Given the description of an element on the screen output the (x, y) to click on. 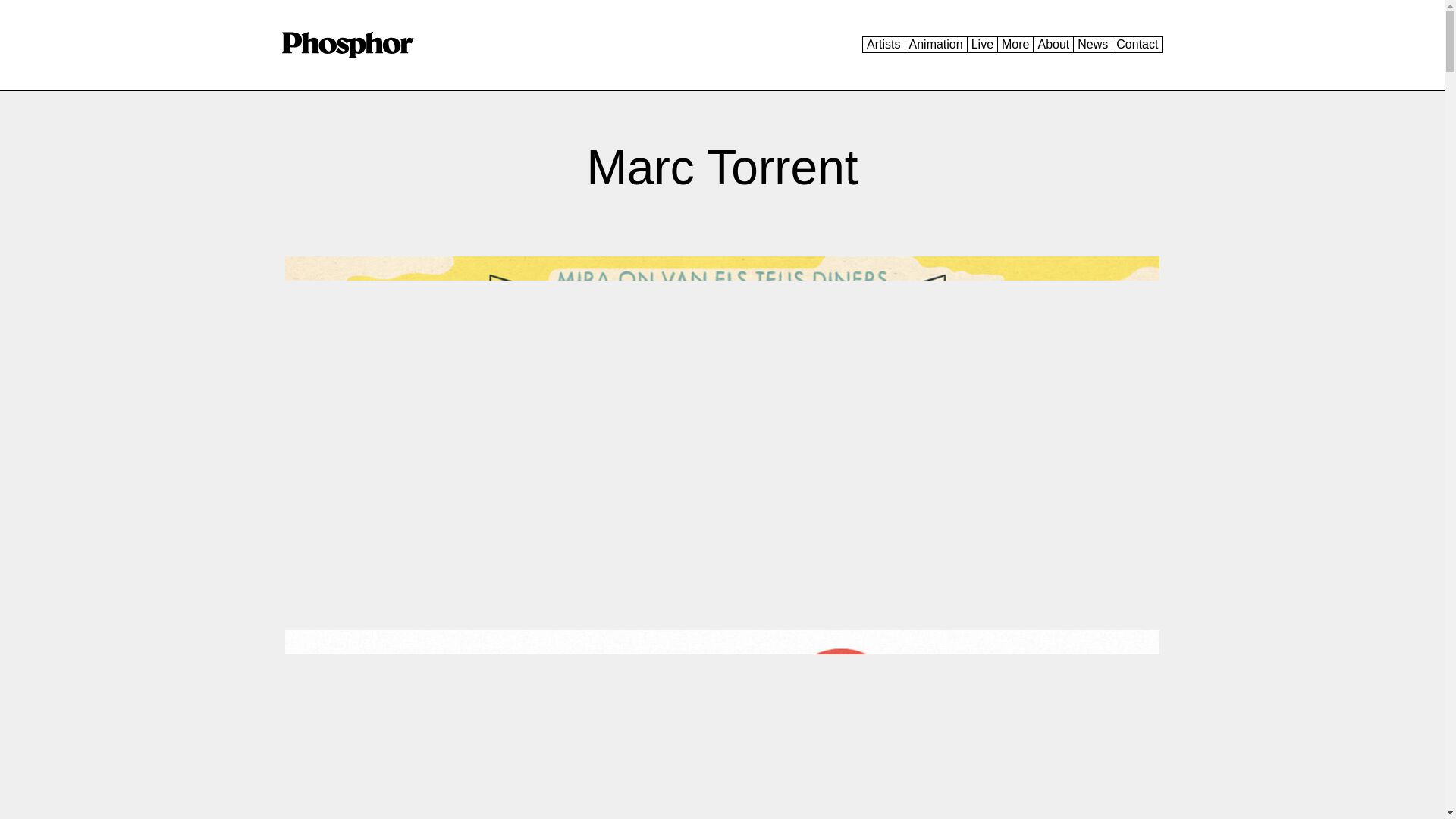
About (1052, 43)
Contact (1136, 43)
News (1092, 43)
Live (981, 43)
Animation (935, 43)
Artists (882, 43)
More (1015, 43)
